Given the description of an element on the screen output the (x, y) to click on. 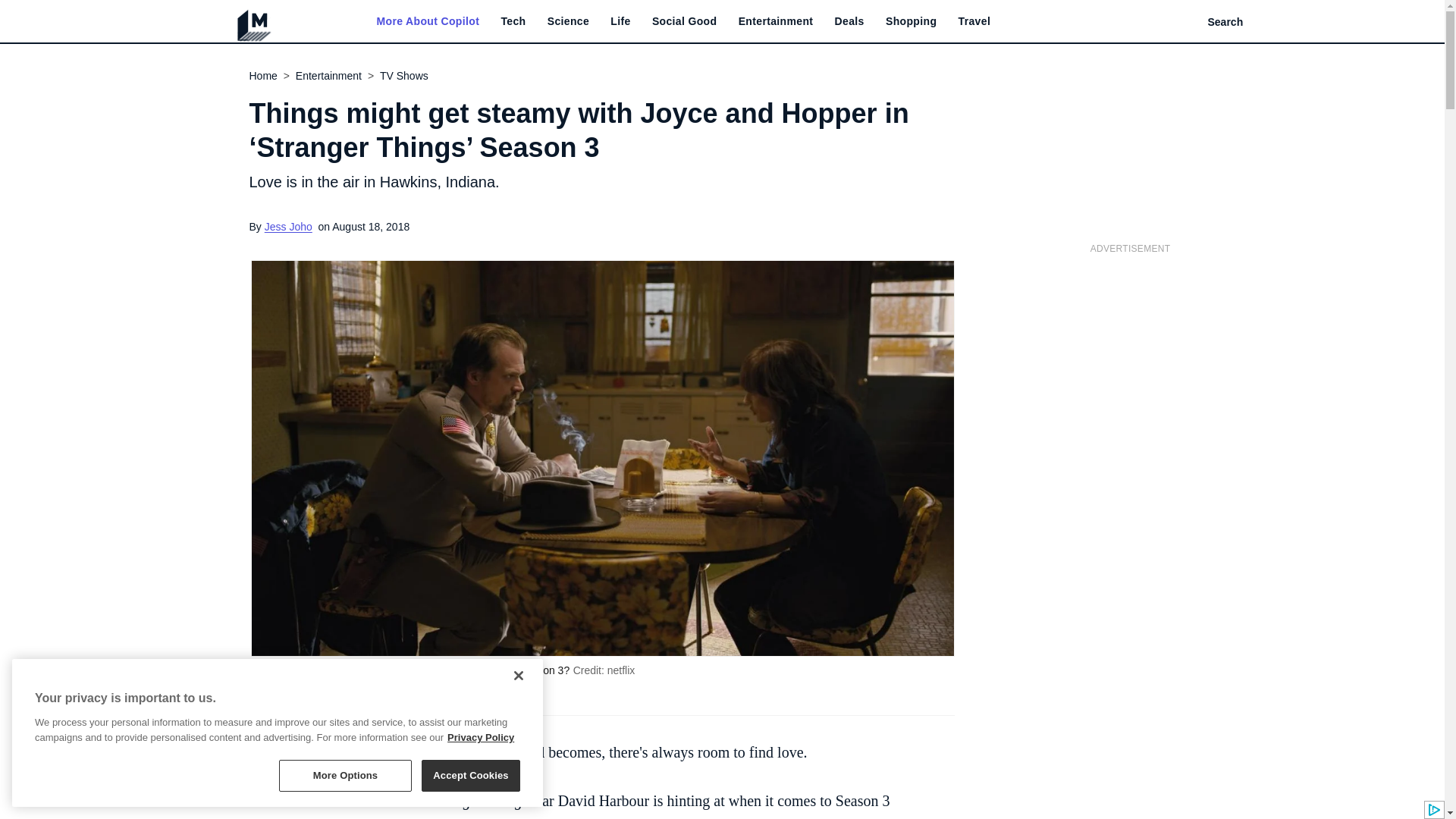
Entertainment (775, 21)
Social Good (684, 21)
Science (568, 21)
More About Copilot (427, 21)
3rd party ad content (1129, 358)
Tech (512, 21)
Travel (974, 21)
Life (620, 21)
Shopping (910, 21)
Deals (849, 21)
